Given the description of an element on the screen output the (x, y) to click on. 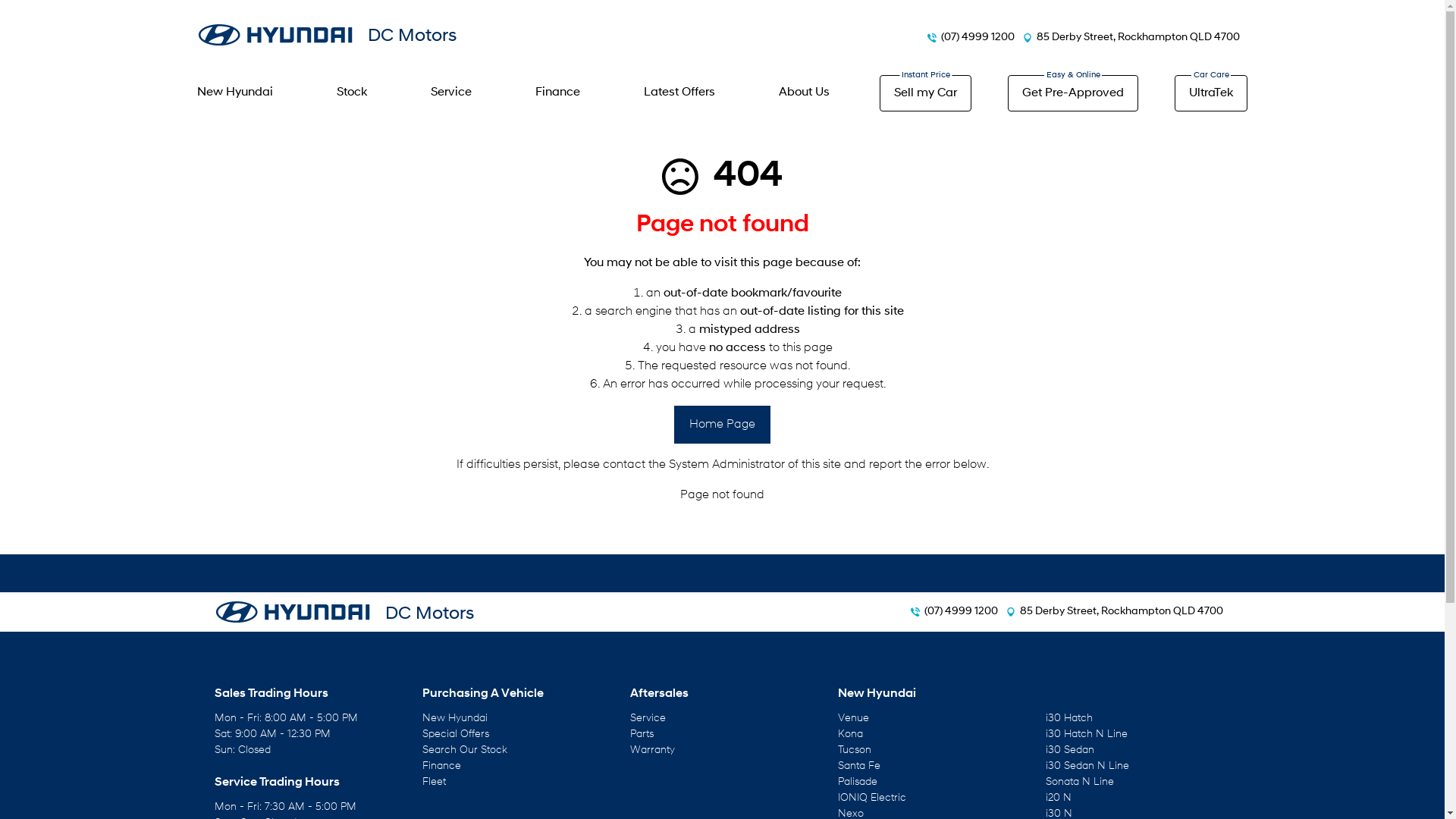
About Us Element type: text (804, 92)
(07) 4999 1200 Element type: text (977, 36)
Kona Element type: text (849, 734)
Finance Element type: text (440, 765)
85 Derby Street, Rockhampton QLD 4700 Element type: text (1137, 36)
Search Our Stock Element type: text (463, 750)
Palisade Element type: text (856, 781)
Home Page Element type: text (722, 424)
Service Element type: text (647, 718)
Venue Element type: text (852, 718)
Special Offers Element type: text (454, 734)
DC Motors Element type: text (343, 611)
Tucson Element type: text (853, 750)
IONIQ Electric Element type: text (871, 797)
New Hyundai Element type: text (241, 92)
85 Derby Street, Rockhampton QLD 4700 Element type: text (1120, 611)
Sonata N Line Element type: text (1078, 781)
i30 Sedan N Line Element type: text (1086, 765)
i20 N Element type: text (1057, 797)
Finance Element type: text (557, 92)
New Hyundai Element type: text (453, 718)
Fleet Element type: text (433, 781)
Service Element type: text (451, 92)
UltraTek Element type: text (1210, 93)
Latest Offers Element type: text (679, 92)
Parts Element type: text (640, 734)
Warranty Element type: text (651, 750)
Sell my Car Element type: text (925, 93)
i30 Hatch N Line Element type: text (1085, 734)
(07) 4999 1200 Element type: text (960, 611)
i30 Hatch Element type: text (1068, 718)
Stock Element type: text (351, 92)
Get Pre-Approved Element type: text (1072, 93)
Santa Fe Element type: text (858, 765)
DC Motors Element type: text (326, 34)
i30 Sedan Element type: text (1068, 750)
